Given the description of an element on the screen output the (x, y) to click on. 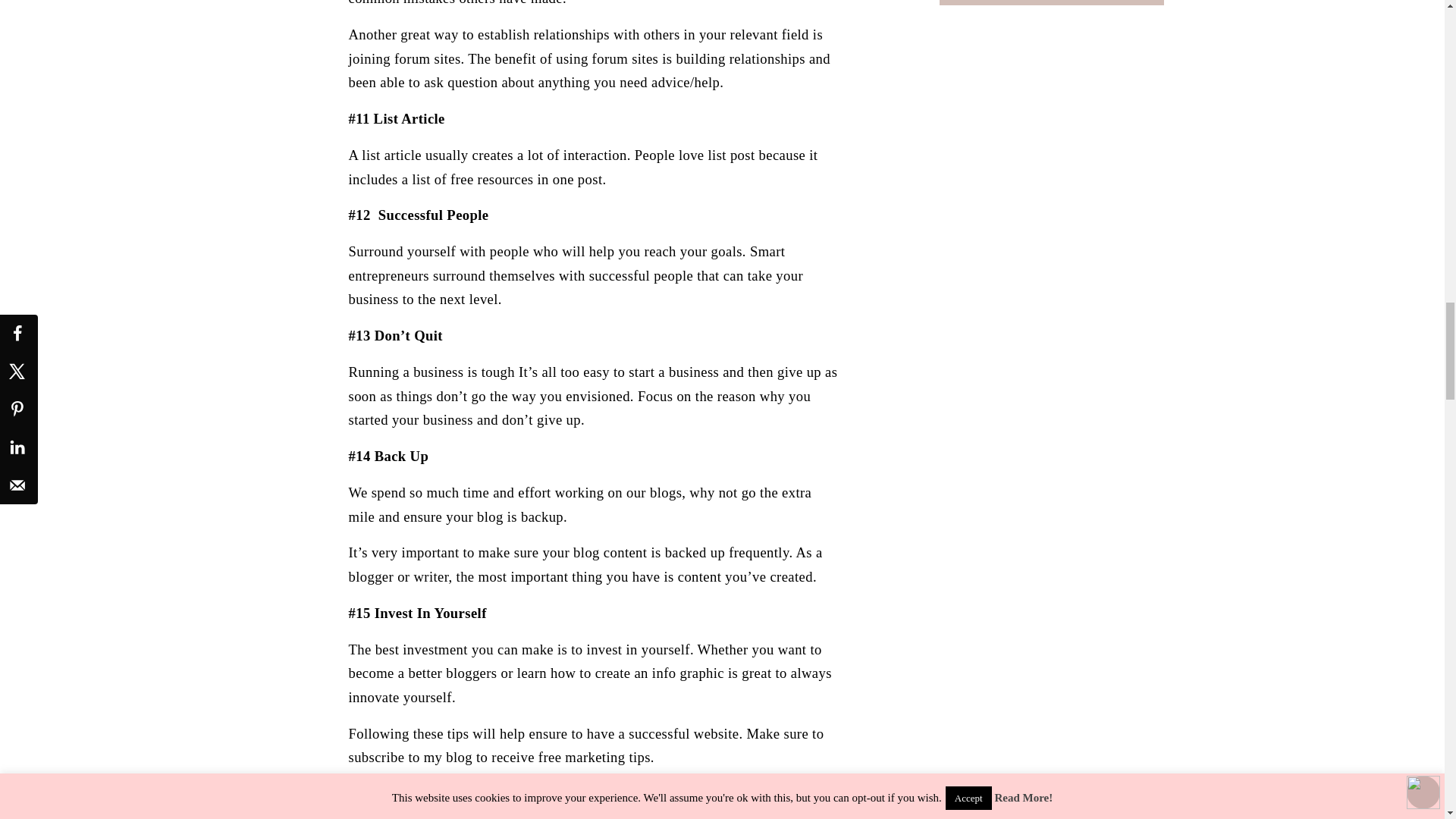
Share on Facebook (419, 816)
Share on X (567, 816)
Save to Pinterest (716, 816)
